Given the description of an element on the screen output the (x, y) to click on. 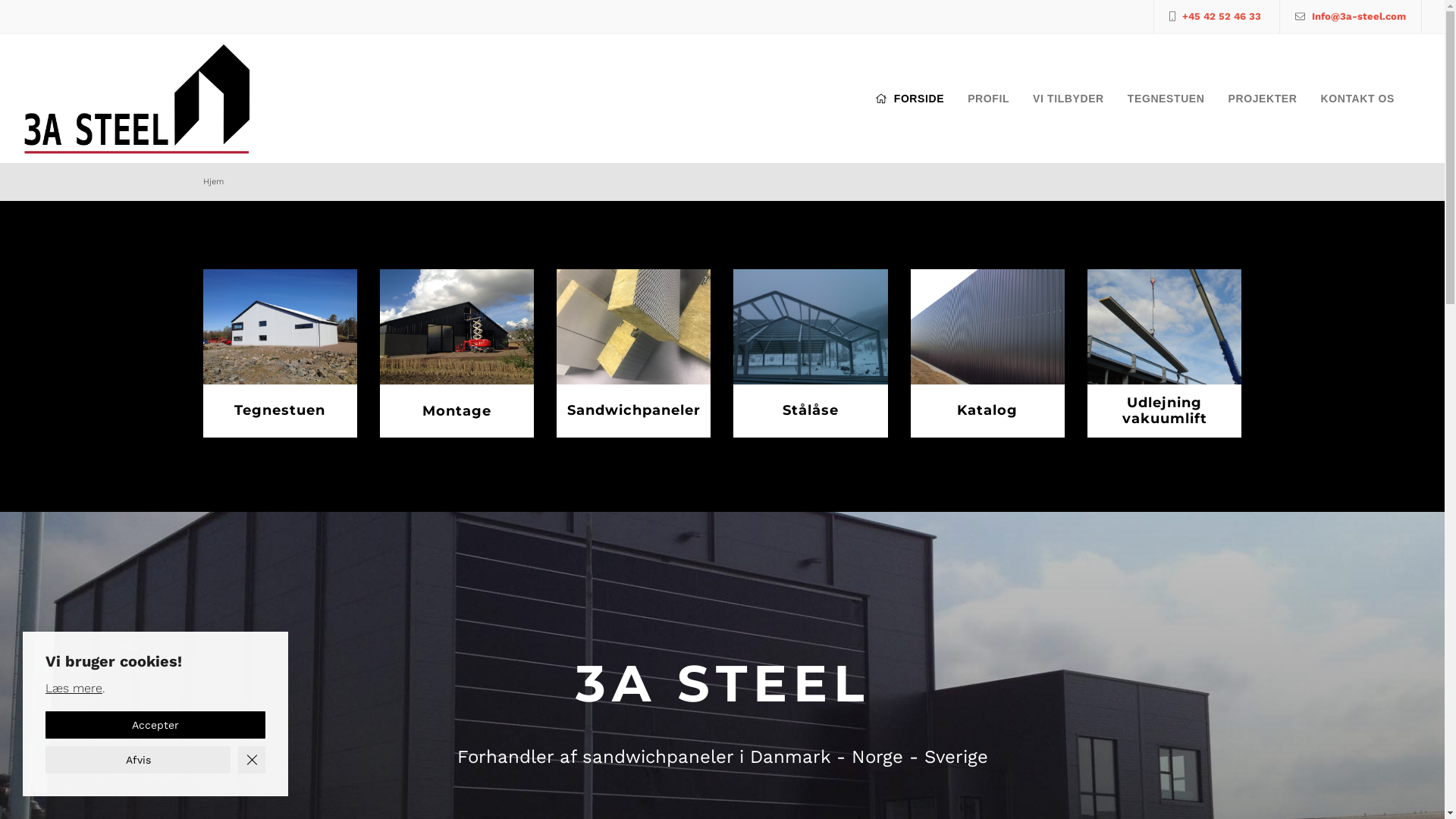
pirpanel Element type: hover (280, 353)
Montage af sandwichpanel Element type: hover (633, 353)
KONTAKT OS Element type: text (1356, 98)
Katalog Element type: hover (987, 353)
TEGNESTUEN Element type: text (1166, 98)
Accepter Element type: text (155, 724)
VI TILBYDER Element type: text (1068, 98)
Montage af sandwichpanel Element type: hover (456, 353)
Close GDPR Cookie Banner Element type: text (251, 759)
Afvis Element type: text (137, 759)
PROFIL Element type: text (988, 98)
Udlejning vakuumlift Element type: hover (1164, 353)
PROJEKTER Element type: text (1262, 98)
FORSIDE Element type: text (909, 98)
